Given the description of an element on the screen output the (x, y) to click on. 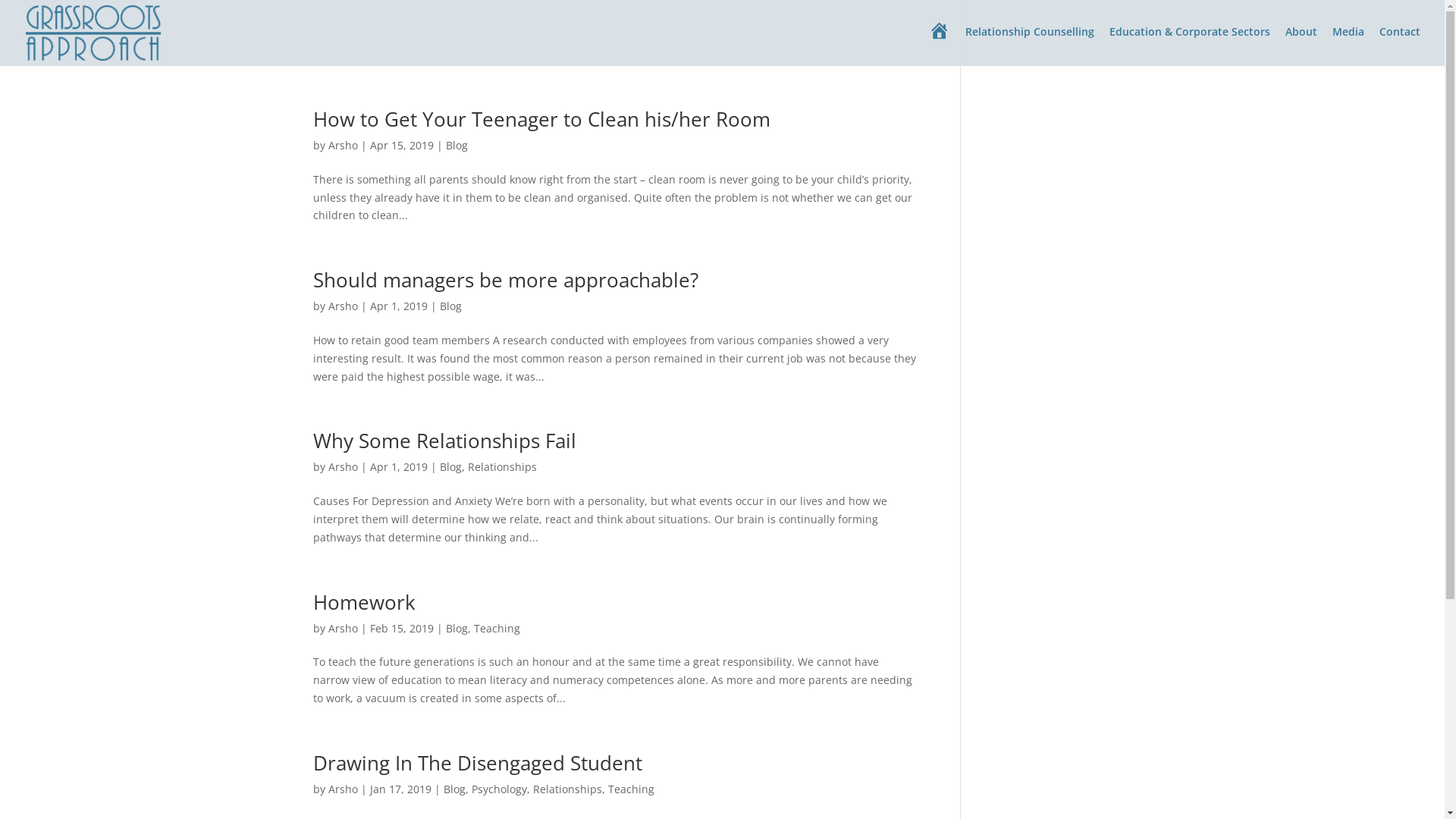
Contact Element type: text (1399, 44)
Psychology Element type: text (499, 788)
Blog Element type: text (456, 145)
Arsho Element type: text (342, 305)
Blog Element type: text (456, 628)
Homework Element type: text (363, 601)
About Element type: text (1301, 44)
Should managers be more approachable? Element type: text (504, 279)
Teaching Element type: text (496, 628)
How to Get Your Teenager to Clean his/her Room Element type: text (540, 118)
Arsho Element type: text (342, 628)
Arsho Element type: text (342, 466)
Why Some Relationships Fail Element type: text (443, 440)
Blog Element type: text (453, 788)
Education & Corporate Sectors Element type: text (1189, 44)
Blog Element type: text (450, 466)
Home Element type: text (939, 45)
Relationship Counselling Element type: text (1029, 44)
Blog Element type: text (450, 305)
Arsho Element type: text (342, 145)
Drawing In The Disengaged Student Element type: text (476, 762)
Relationships Element type: text (566, 788)
Teaching Element type: text (631, 788)
Arsho Element type: text (342, 788)
Media Element type: text (1348, 44)
Relationships Element type: text (501, 466)
